Given the description of an element on the screen output the (x, y) to click on. 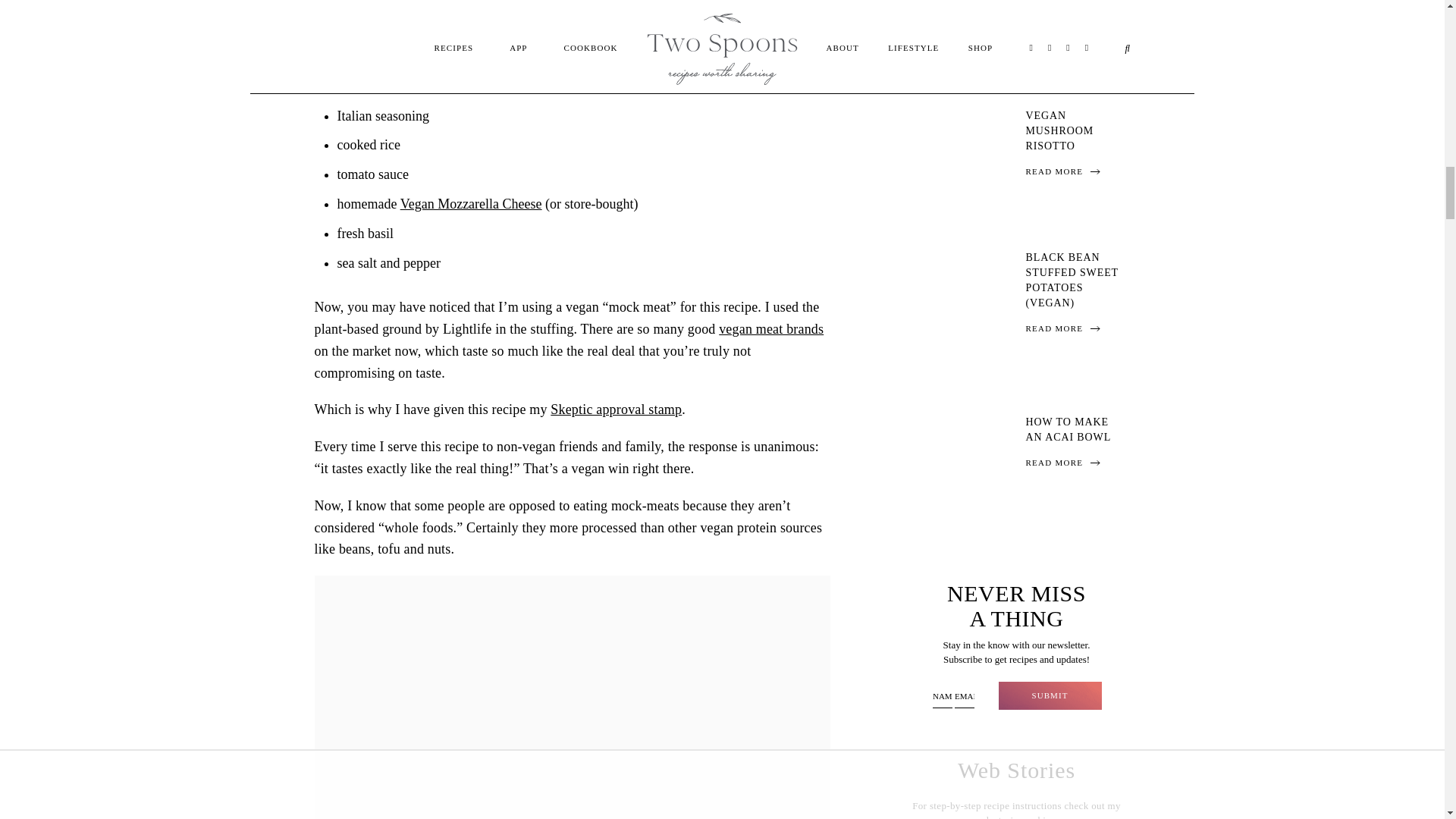
Skeptic approval stamp (615, 409)
vegan meat brands (771, 328)
Vegan Mozzarella Cheese (470, 203)
